Given the description of an element on the screen output the (x, y) to click on. 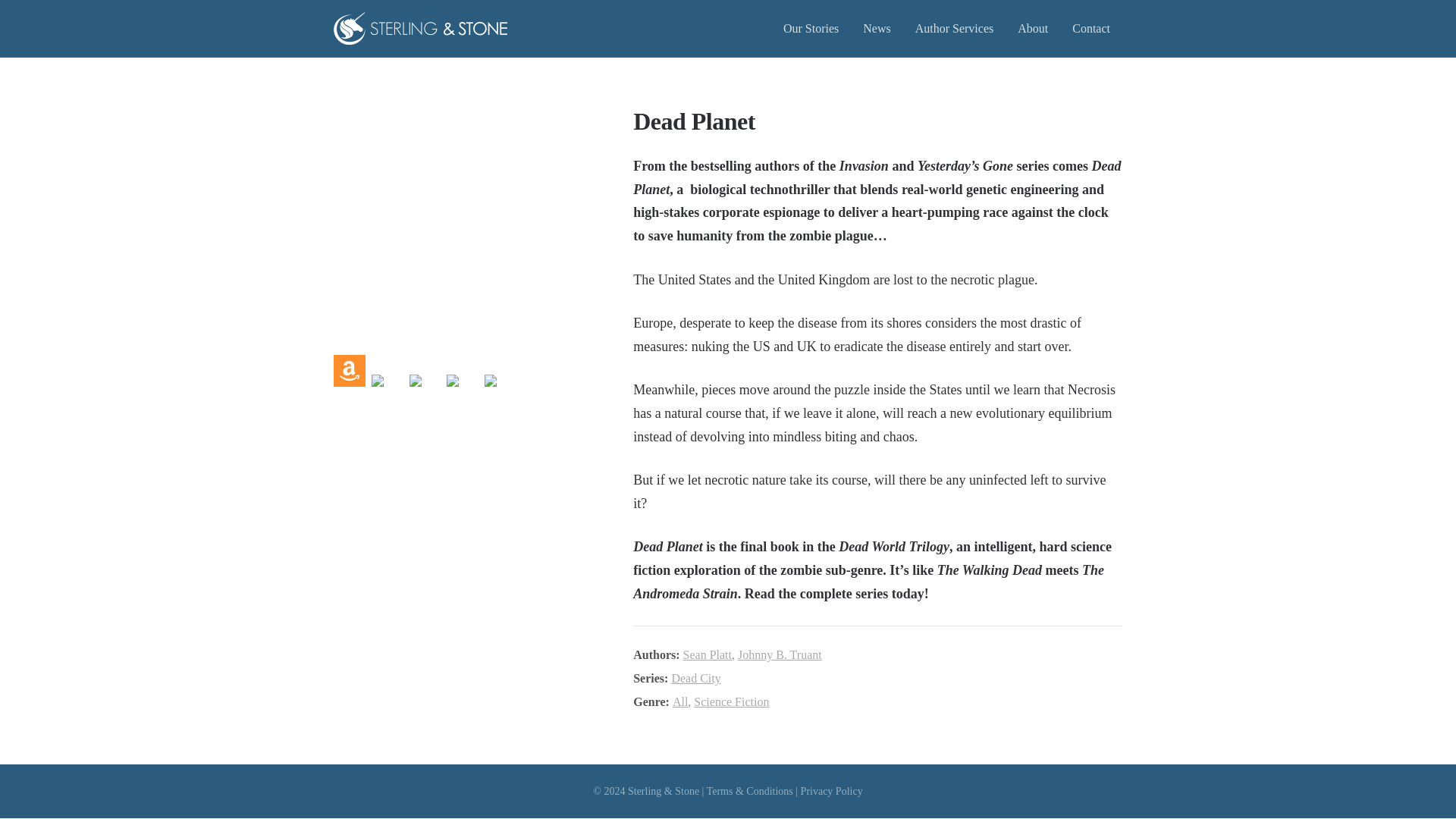
News (876, 28)
Sean Platt (707, 654)
Author Services (954, 28)
Dead City (695, 677)
Privacy Policy (831, 790)
Contact (1090, 28)
Our Stories (810, 28)
About (1032, 28)
Science Fiction (731, 701)
Johnny B. Truant (780, 654)
